Given the description of an element on the screen output the (x, y) to click on. 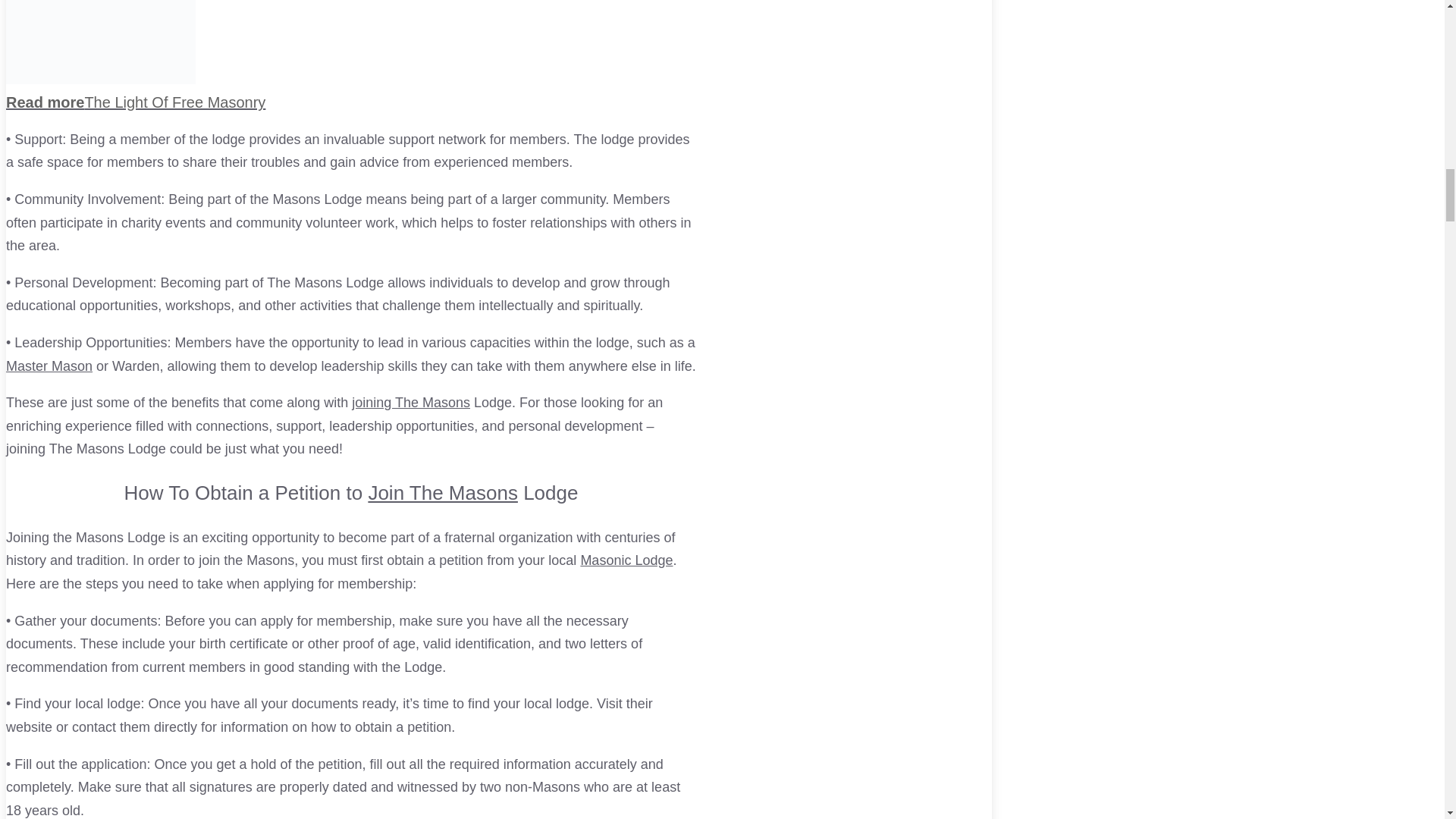
Master Mason (49, 365)
How To Join Free Mason (411, 402)
Join The Masons (443, 492)
joining The Masons (411, 402)
Read moreThe Light Of Free Masonry (350, 93)
Masonic Lodge (625, 560)
